Given the description of an element on the screen output the (x, y) to click on. 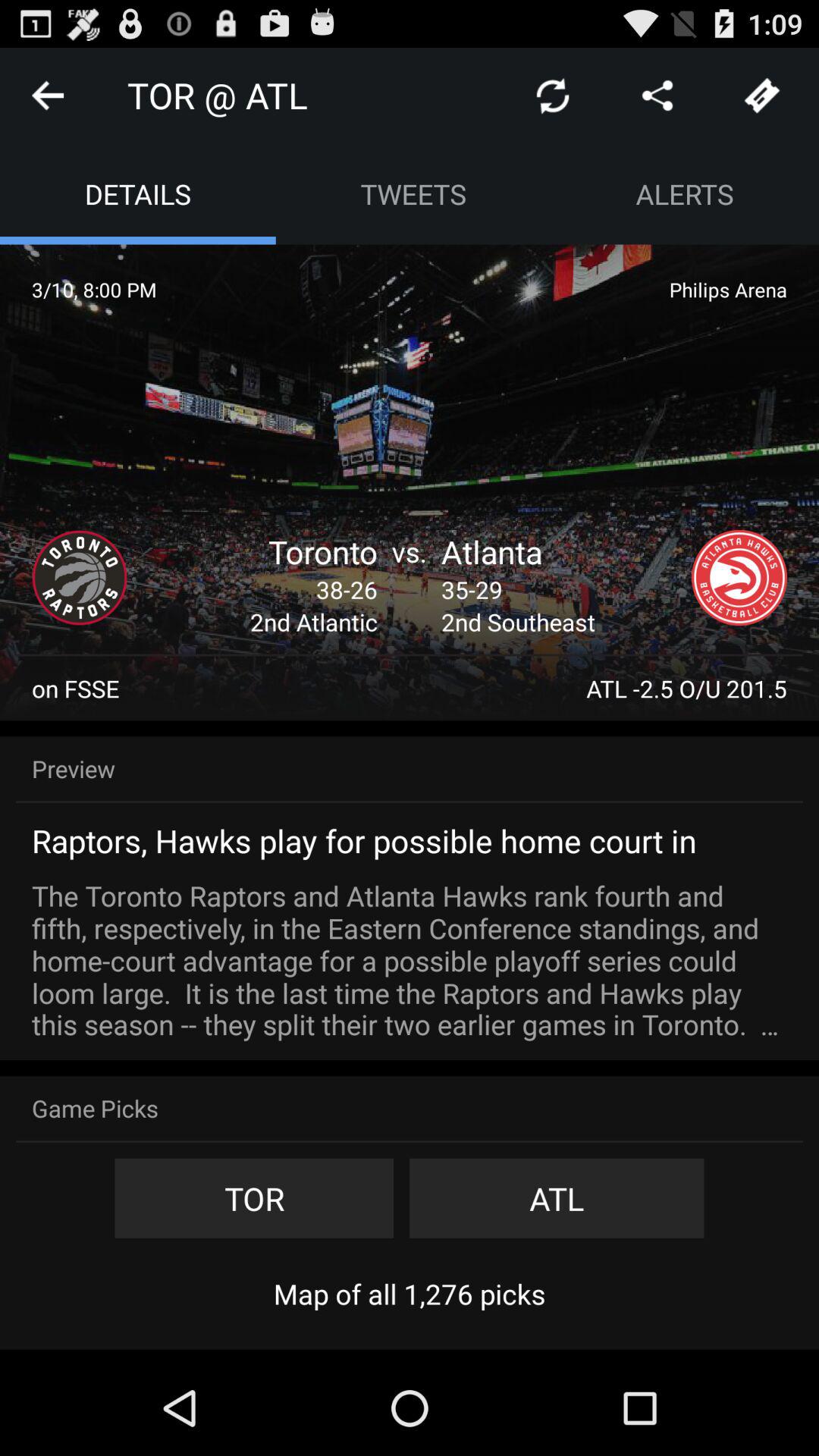
get tickets (762, 95)
